Given the description of an element on the screen output the (x, y) to click on. 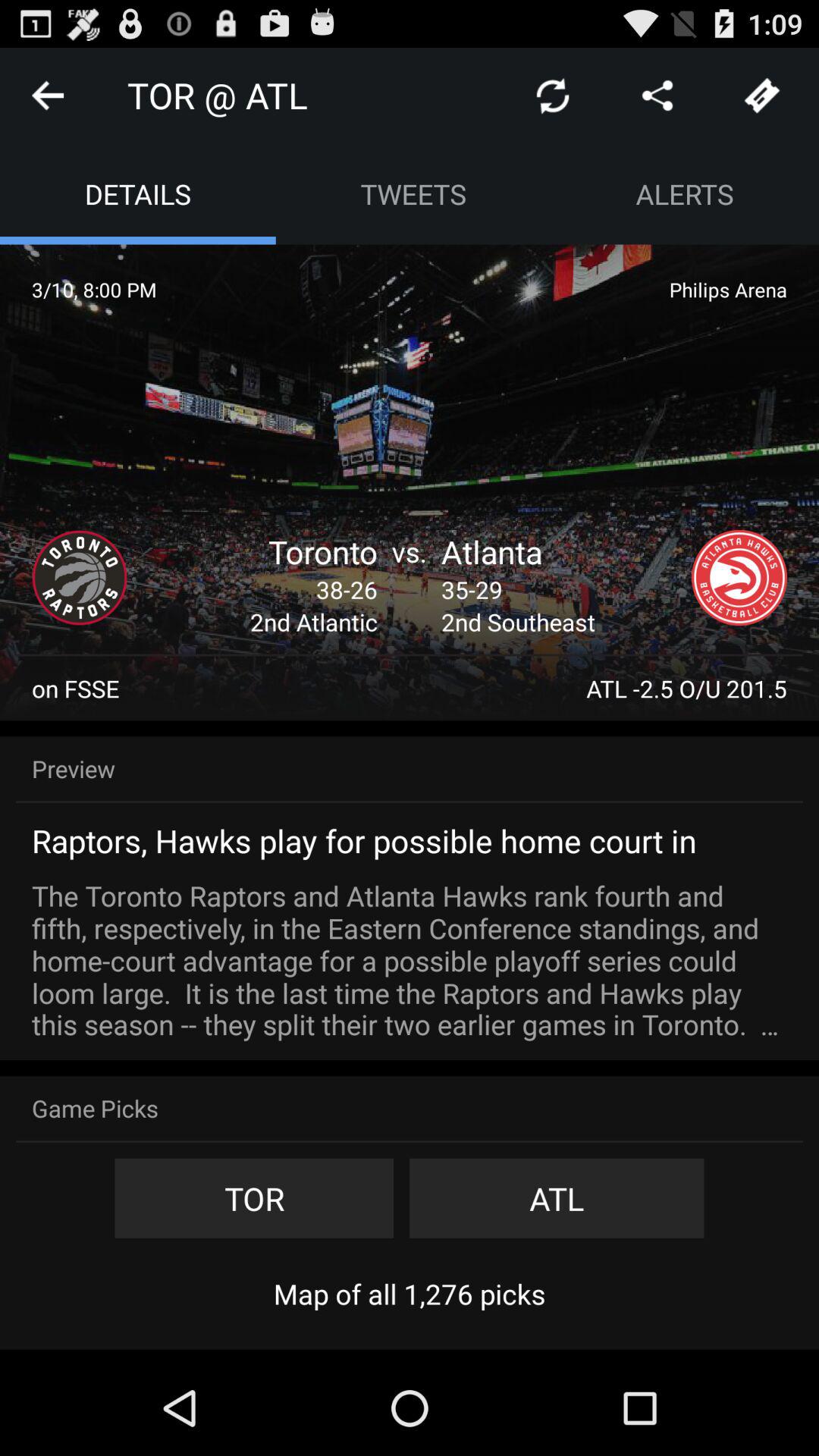
get tickets (762, 95)
